Given the description of an element on the screen output the (x, y) to click on. 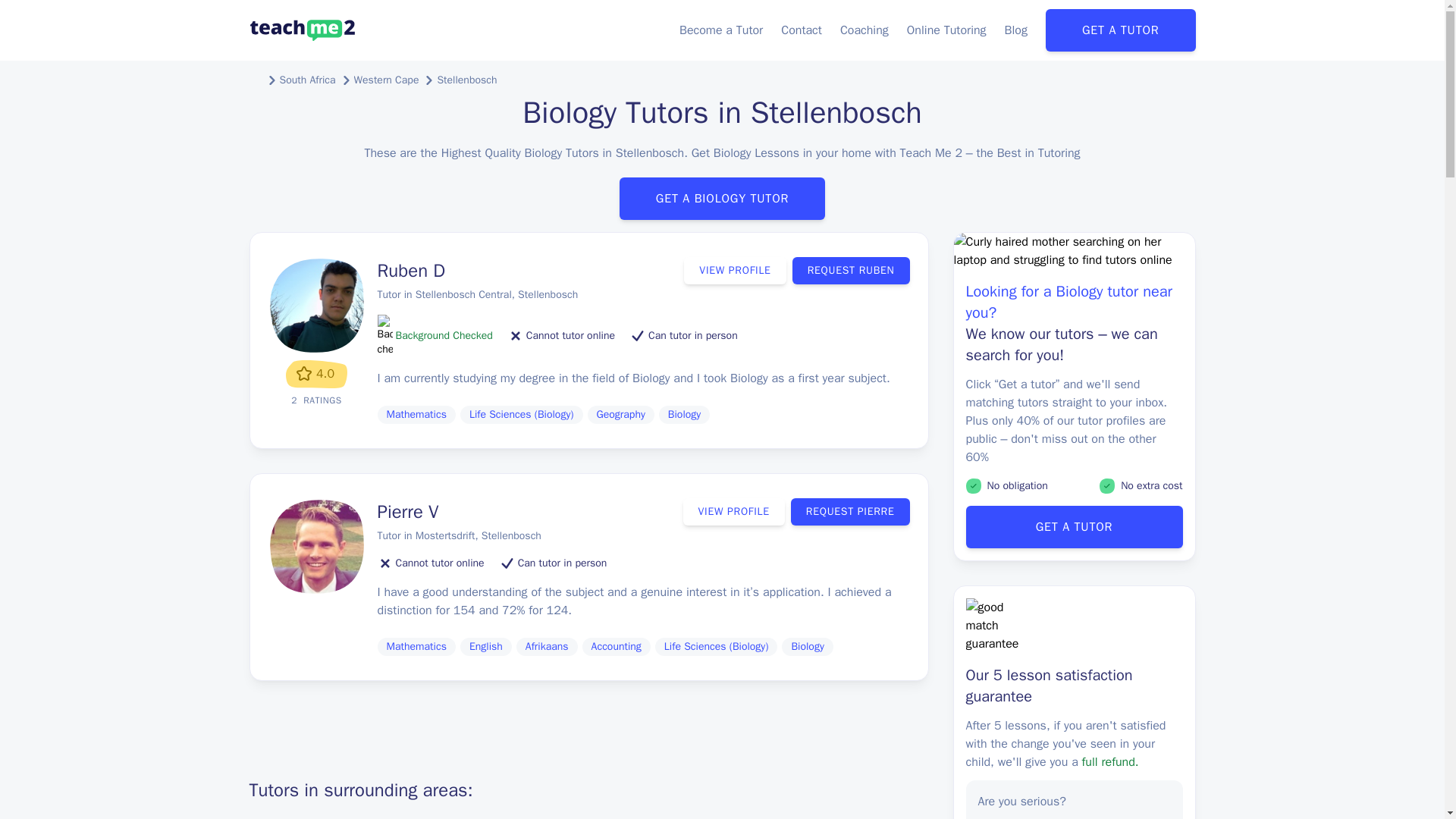
Stellenbosch (466, 79)
Ruben D (411, 270)
Western Cape (386, 79)
Pierre V (408, 511)
VIEW PROFILE (733, 511)
Blog (1015, 29)
Jump to the front page (301, 29)
GET A TUTOR (1120, 30)
Online Tutoring (947, 29)
VIEW PROFILE (735, 270)
GET A BIOLOGY TUTOR (722, 198)
Coaching (864, 29)
REQUEST PIERRE (850, 511)
South Africa (306, 79)
Contact (801, 29)
